Given the description of an element on the screen output the (x, y) to click on. 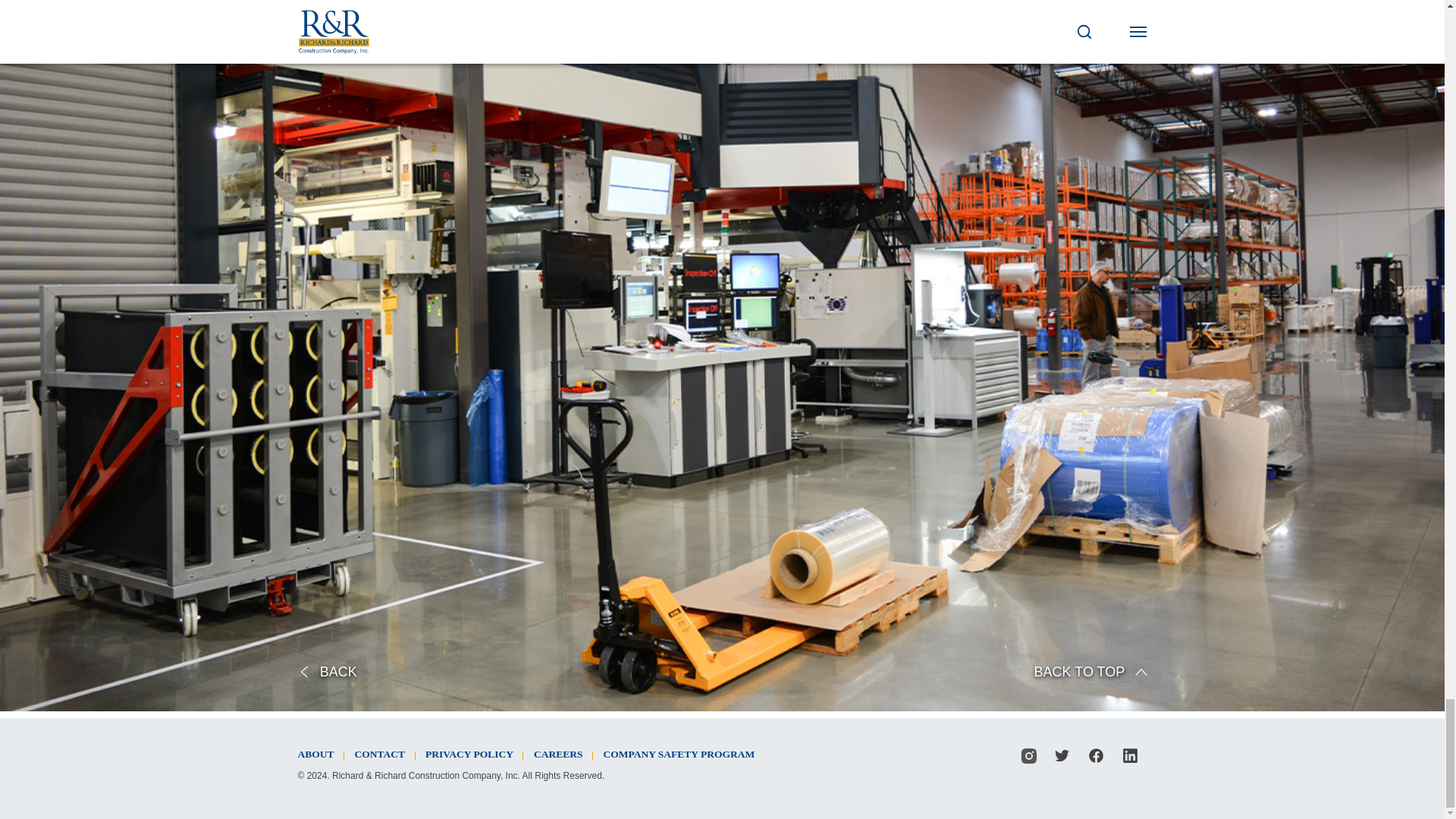
CONTACT (380, 754)
PRIVACY POLICY (469, 754)
CAREERS (558, 754)
COMPANY SAFETY PROGRAM (678, 754)
BACK (326, 671)
BACK TO TOP (1090, 671)
ABOUT (315, 754)
